Given the description of an element on the screen output the (x, y) to click on. 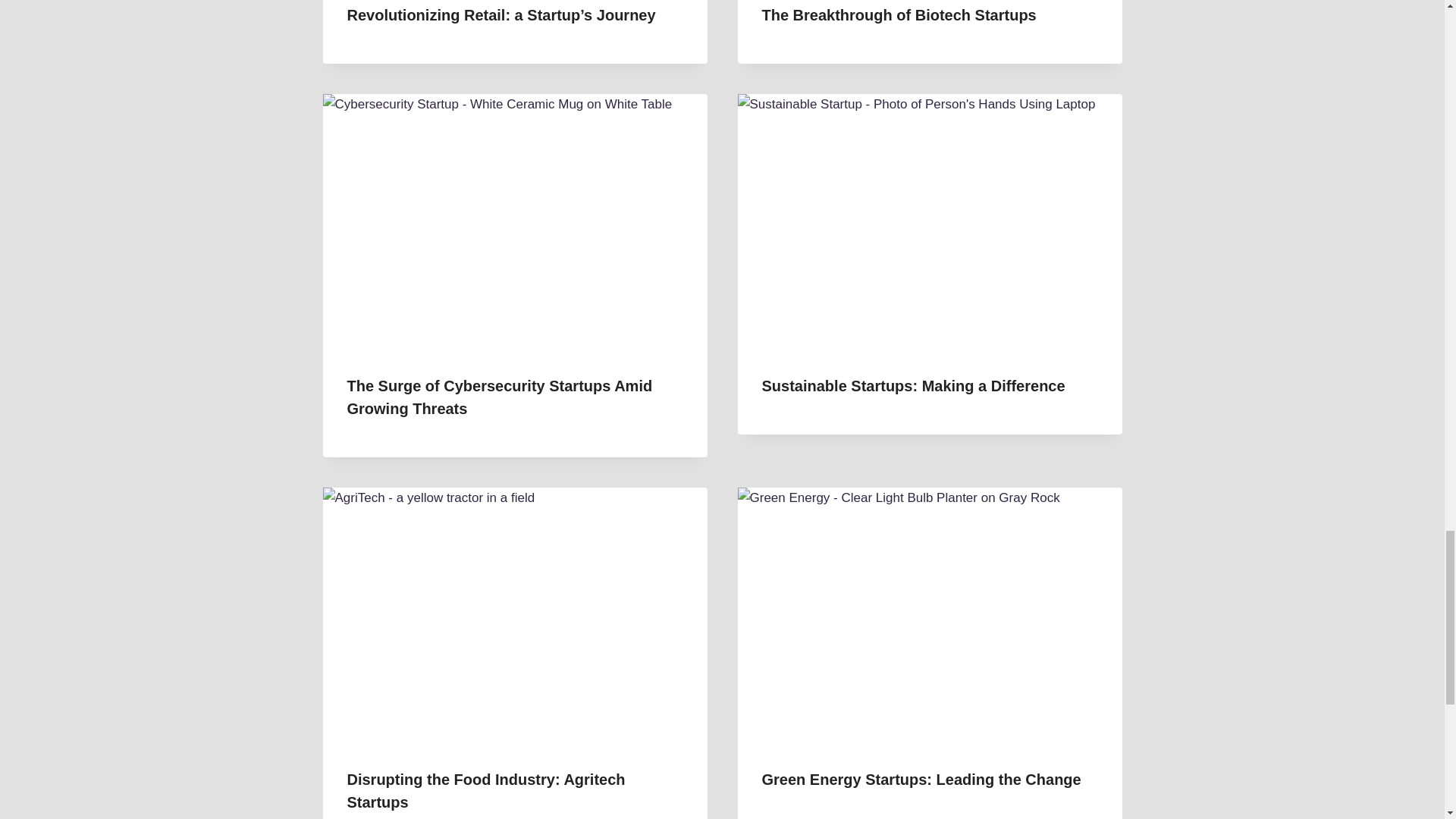
Sustainable Startups: Making a Difference (912, 385)
The Breakthrough of Biotech Startups (898, 14)
The Surge of Cybersecurity Startups Amid Growing Threats (499, 396)
